Given the description of an element on the screen output the (x, y) to click on. 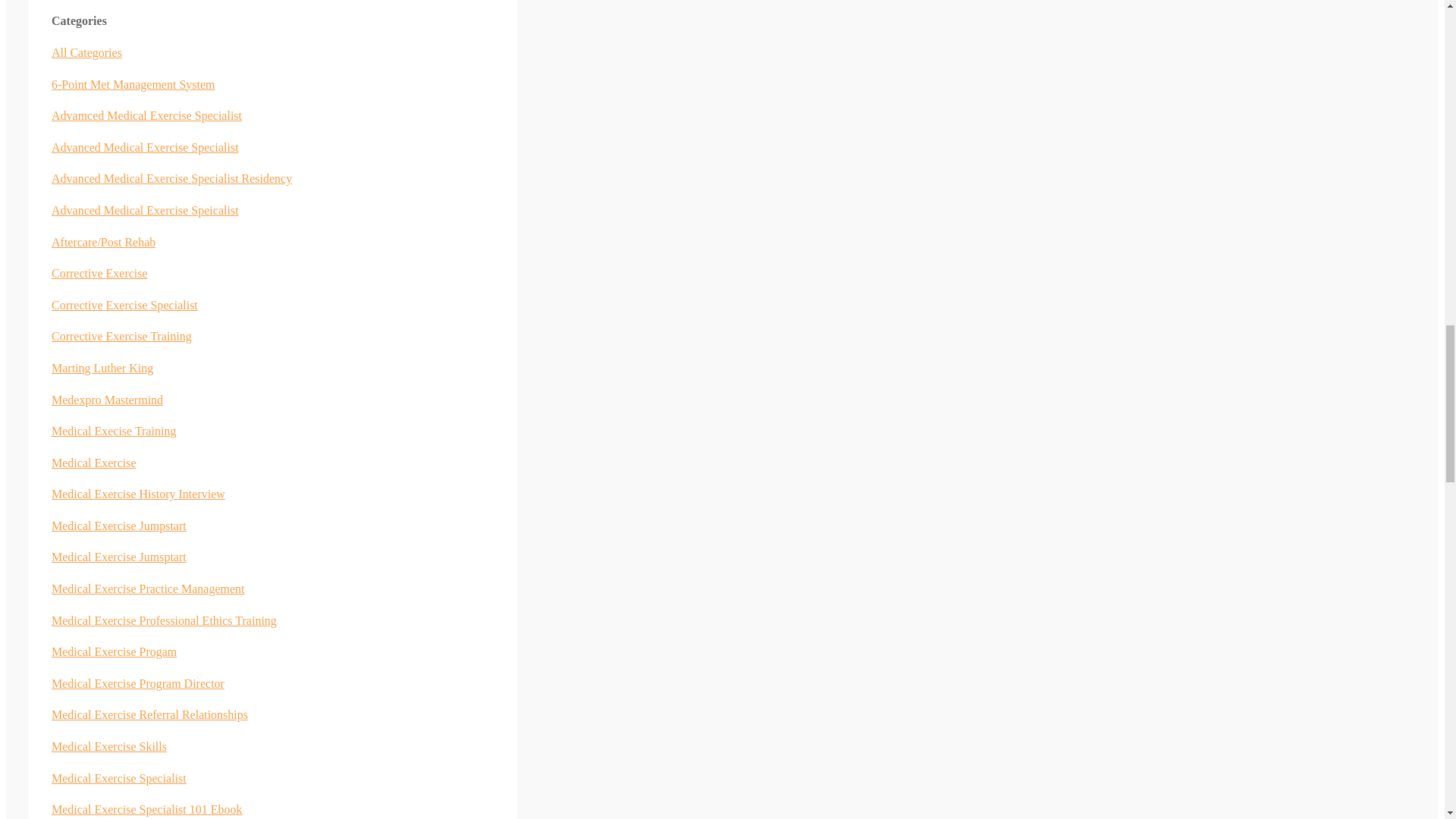
Advamced Medical Exercise Specialist (145, 115)
All Categories (86, 51)
6-Point Met Management System (132, 83)
Advanced Medical Exercise Specialist (144, 146)
Advanced Medical Exercise Speicalist (144, 210)
Advanced Medical Exercise Specialist Residency (171, 178)
Corrective Exercise (99, 273)
